Given the description of an element on the screen output the (x, y) to click on. 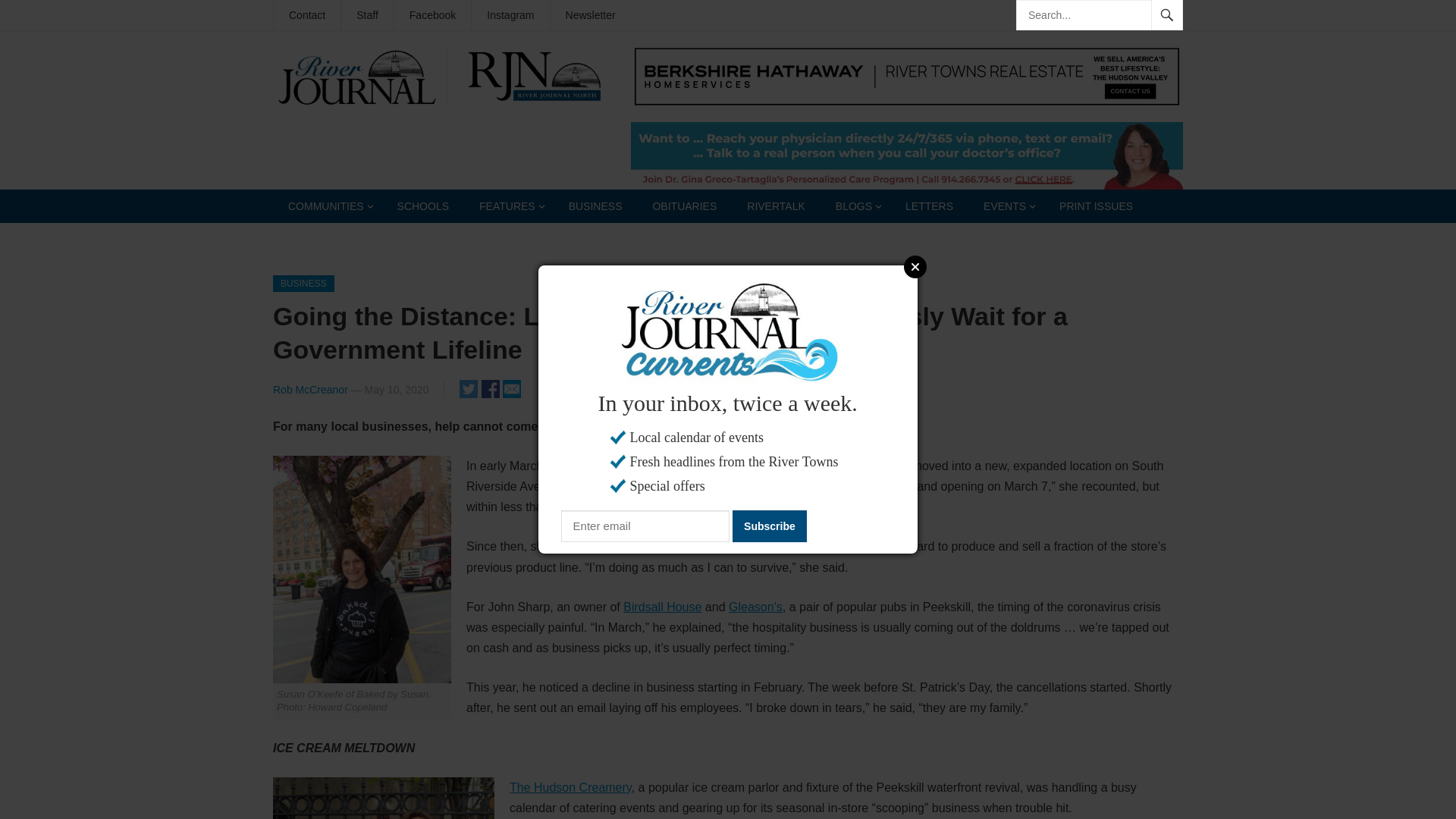
Instagram (509, 15)
Posts by Rob McCreanor (310, 389)
COMMUNITIES (327, 205)
BUSINESS (595, 205)
Contact (306, 15)
Subscribe (769, 526)
Staff (366, 15)
SCHOOLS (422, 205)
FEATURES (508, 205)
View all posts in Business (303, 283)
Facebook (432, 15)
Newsletter (590, 15)
